Given the description of an element on the screen output the (x, y) to click on. 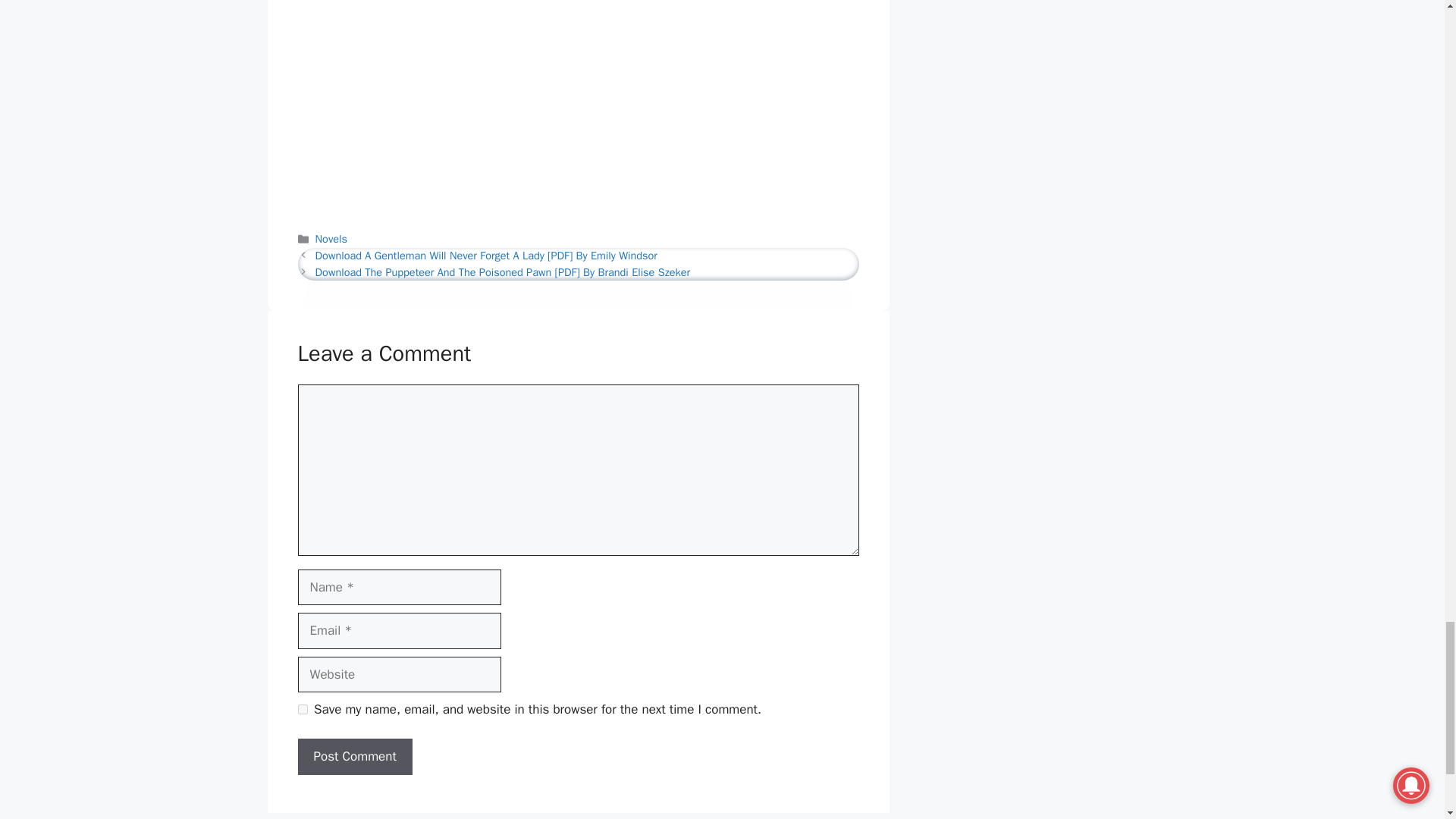
Post Comment (354, 756)
yes (302, 709)
